Given the description of an element on the screen output the (x, y) to click on. 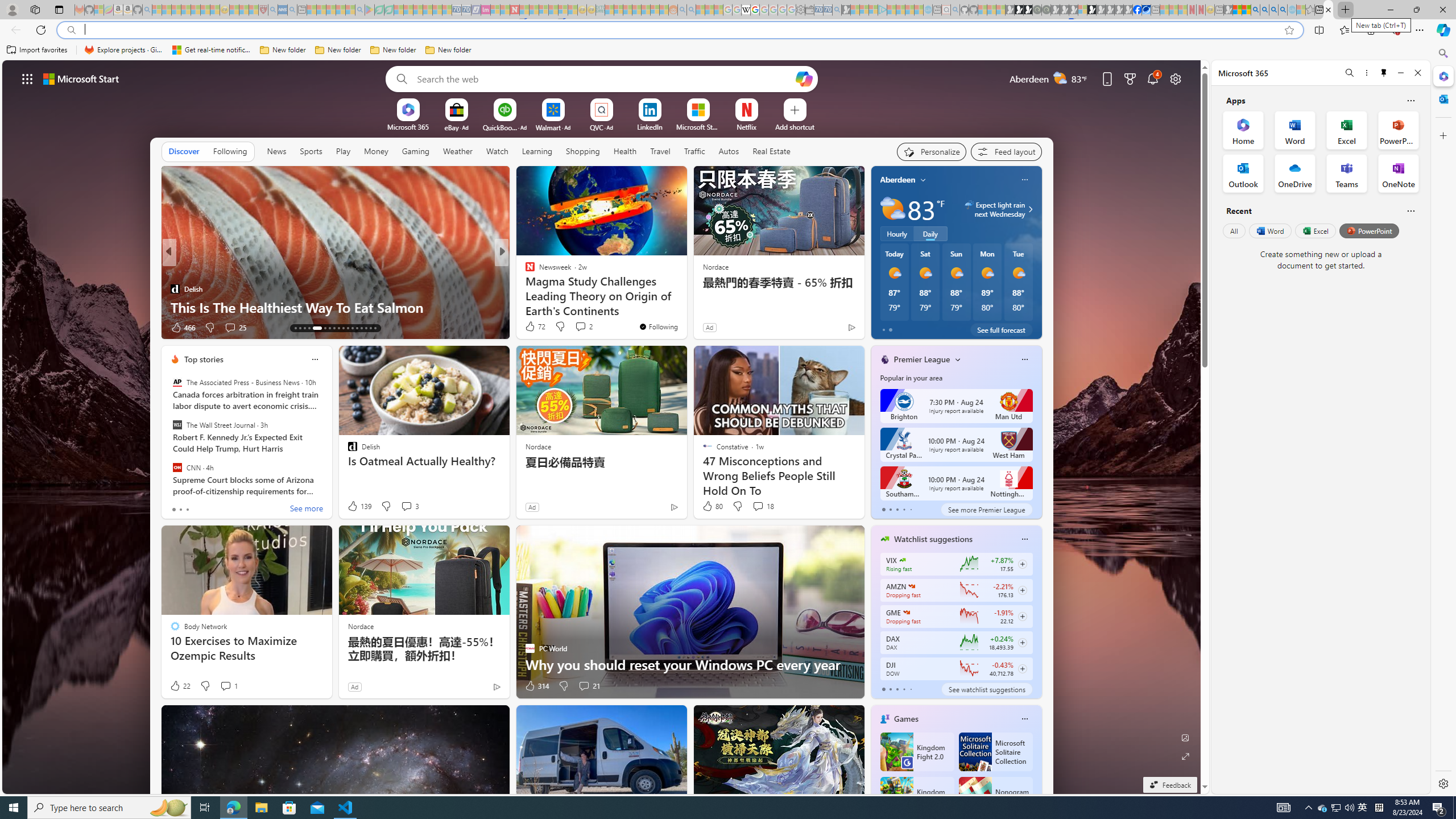
Start the conversation (577, 327)
Partly sunny (892, 208)
Money (376, 151)
314 Like (536, 685)
Class: sd-card-game-item-img-inner (974, 796)
Enter your search term (603, 78)
Gaming (415, 151)
Premier League (921, 359)
AutomationID: tab-18 (322, 328)
Bing AI - Search (1255, 9)
